Given the description of an element on the screen output the (x, y) to click on. 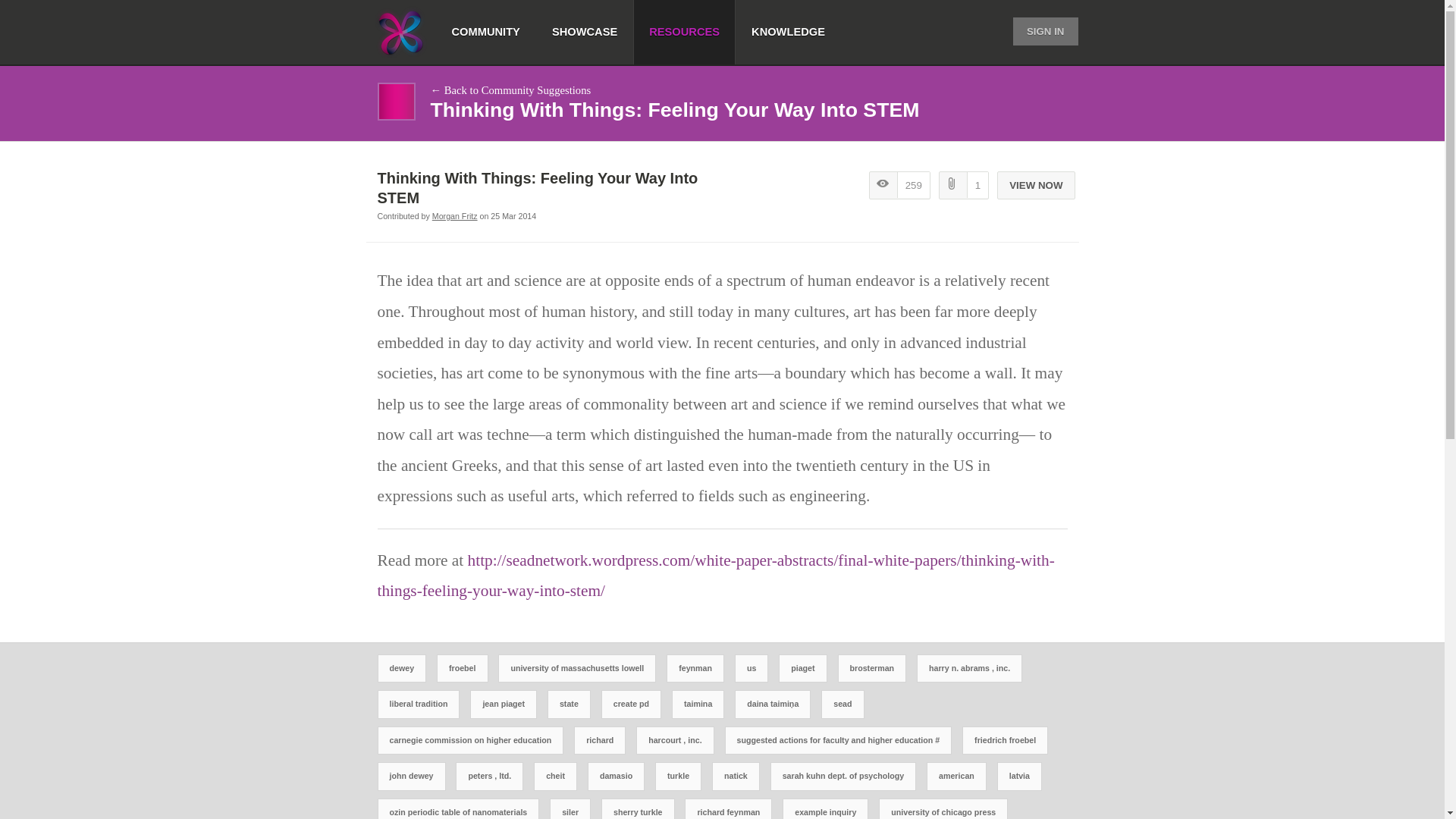
Log in (1031, 166)
SIGN IN (1045, 31)
VIEW NOW (1035, 185)
259 (899, 185)
RESOURCES (684, 32)
KNOWLEDGE (788, 32)
dewey (401, 668)
1 (963, 185)
Morgan Fritz (454, 215)
SHOWCASE (584, 32)
